Given the description of an element on the screen output the (x, y) to click on. 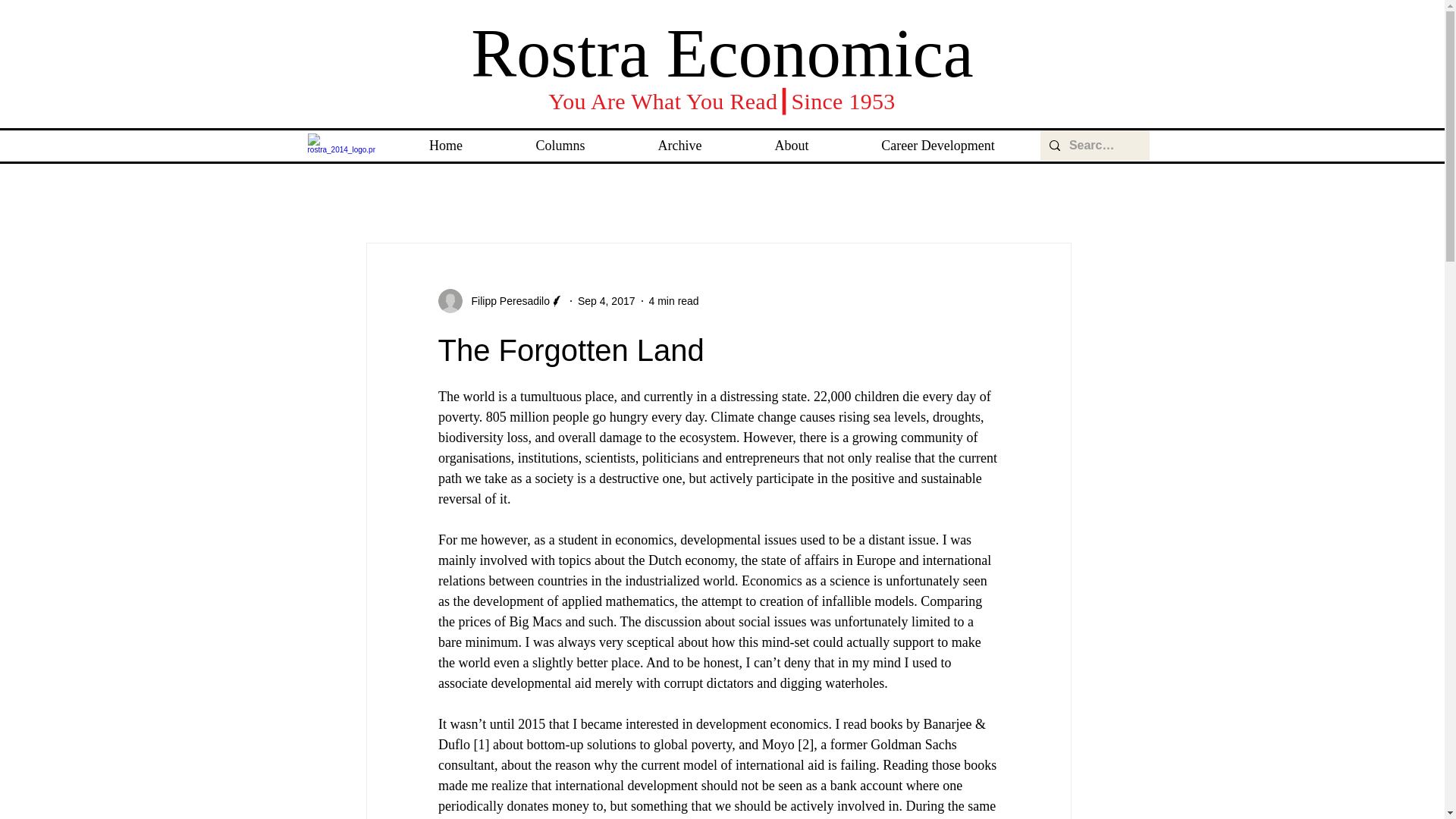
Filipp Peresadilo (506, 300)
Rostra Economica (721, 52)
Sep 4, 2017 (606, 300)
Filipp Peresadilo (501, 300)
4 min read (673, 300)
Home (446, 138)
Career Development (937, 138)
About (791, 138)
Archive (679, 138)
Columns (560, 138)
